Given the description of an element on the screen output the (x, y) to click on. 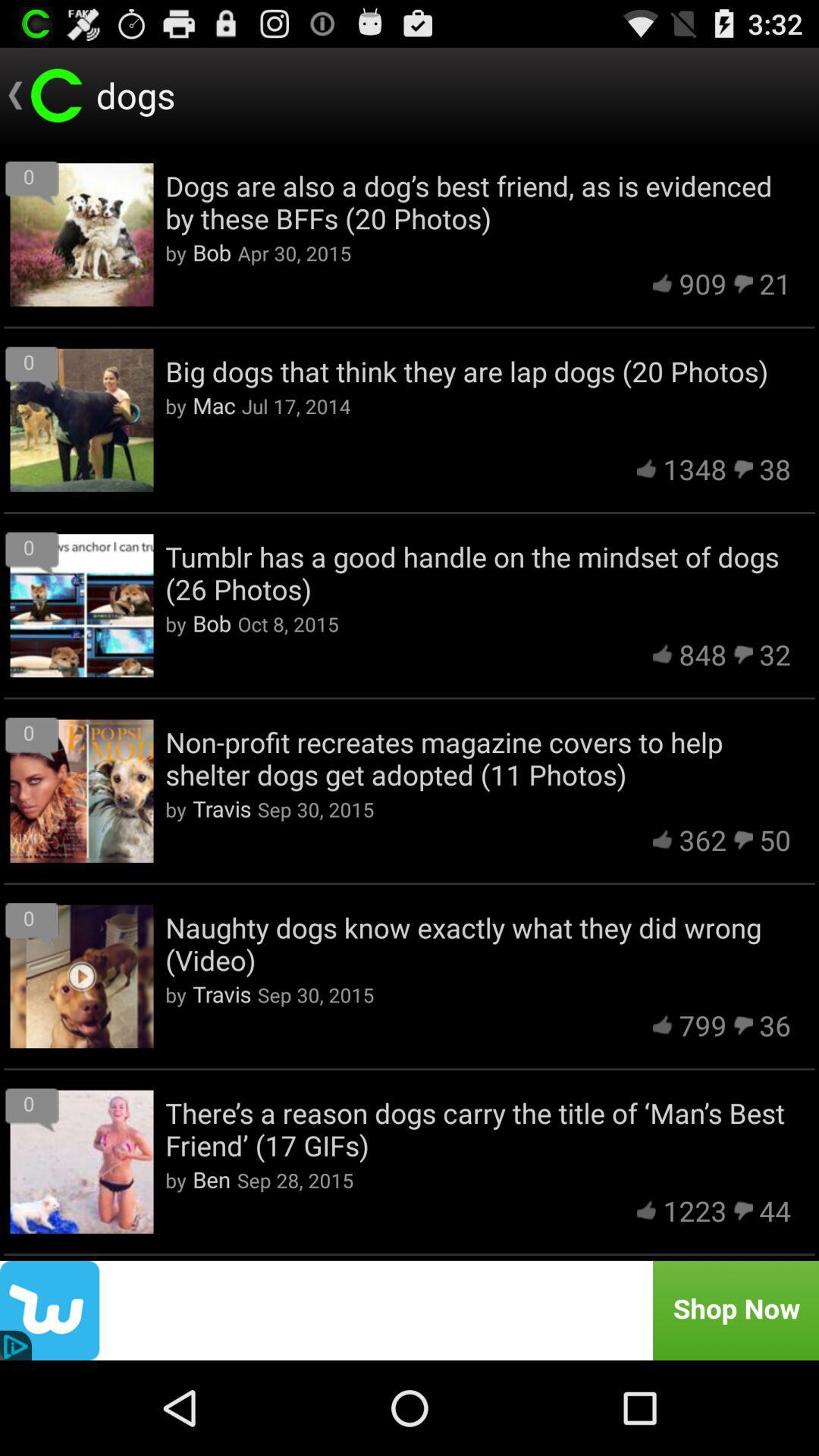
select advertisement (409, 1310)
